Given the description of an element on the screen output the (x, y) to click on. 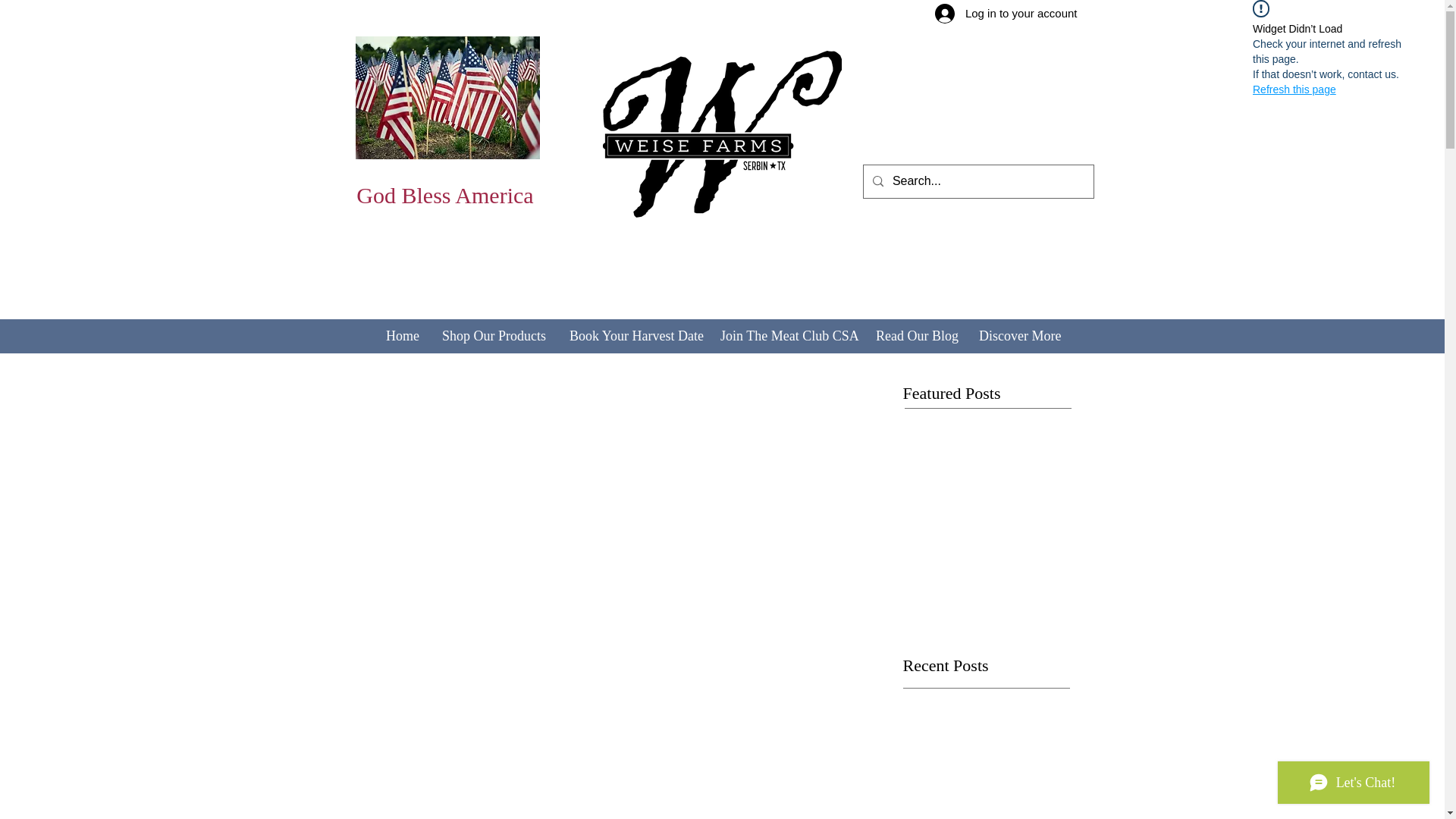
Book Your Harvest Date (632, 335)
Refresh this page (1294, 89)
Shop Our Products (493, 335)
American Flags  (446, 97)
Home (401, 335)
Log in to your account (1005, 13)
Read Our Blog (914, 335)
Join The Meat Club CSA (785, 335)
Discover More (1018, 335)
